Given the description of an element on the screen output the (x, y) to click on. 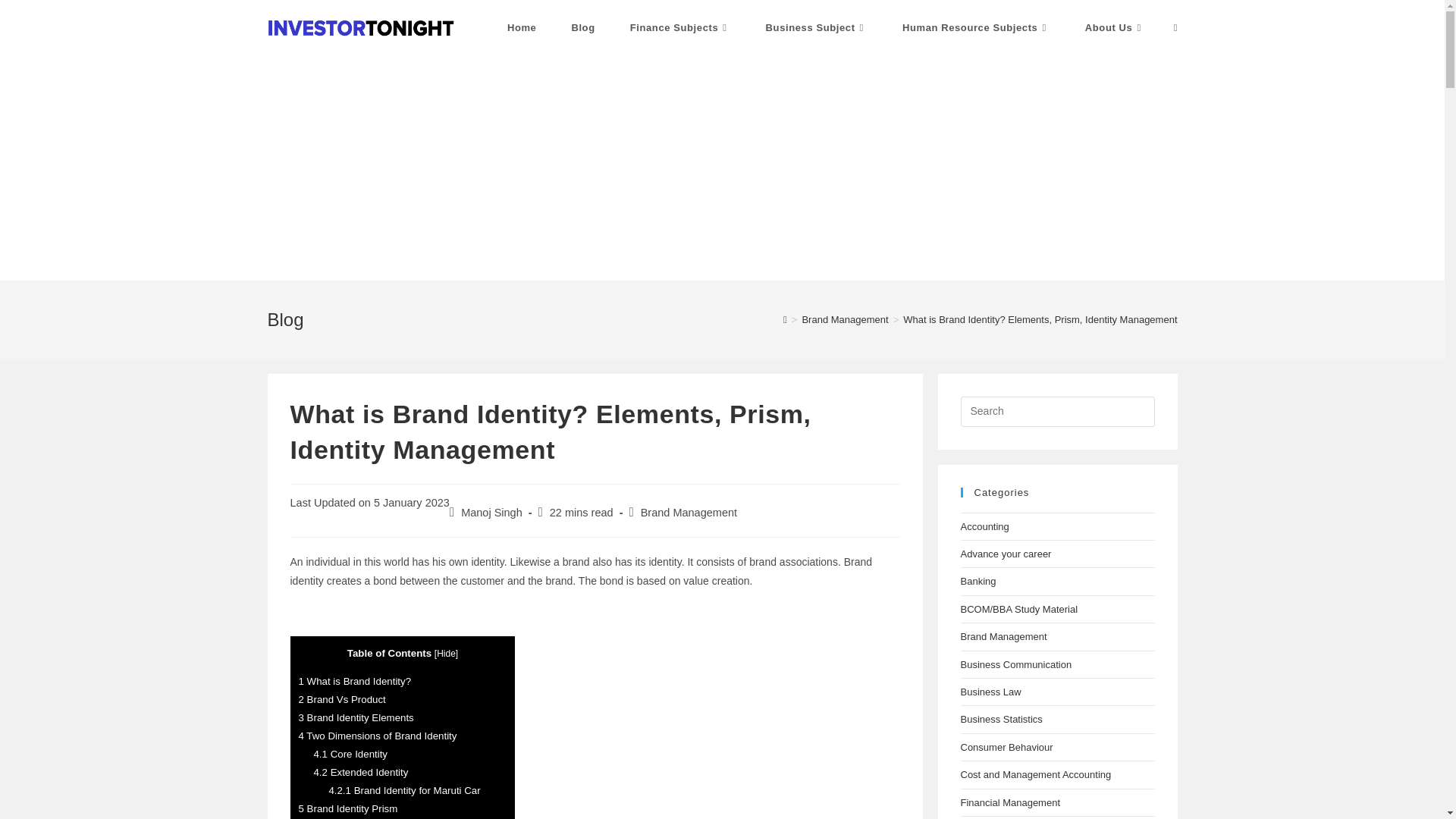
Finance Subjects (680, 28)
Posts by Manoj Singh (491, 512)
Human Resource Subjects (976, 28)
Business Subject (816, 28)
Home (521, 28)
About Us (1114, 28)
Blog (582, 28)
